Given the description of an element on the screen output the (x, y) to click on. 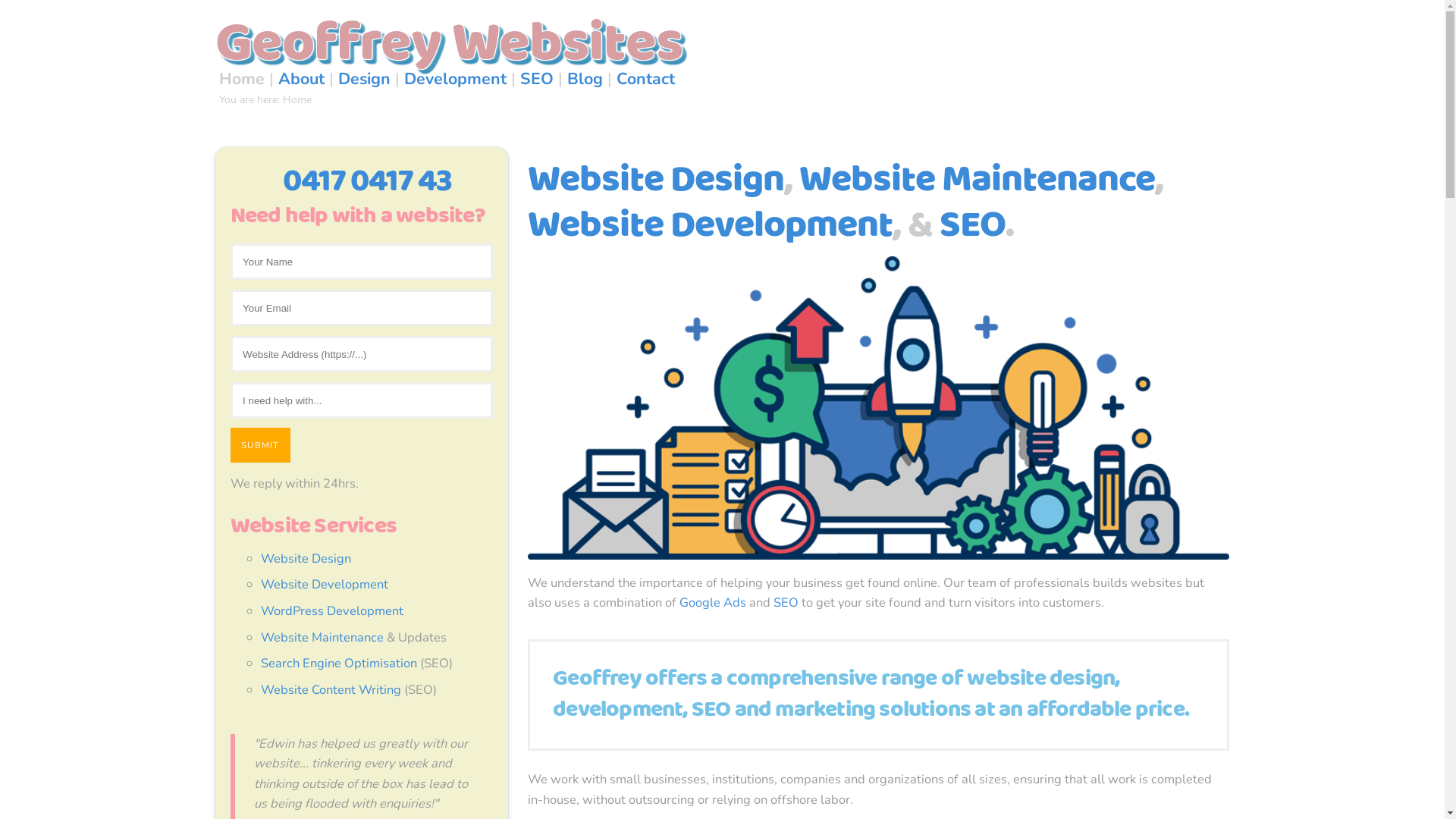
Contact Element type: text (645, 78)
Development Element type: text (455, 78)
0417 0417 43 Element type: text (366, 181)
Design Element type: text (364, 78)
Submit Element type: text (260, 444)
SEO Element type: text (785, 602)
WordPress Development Element type: text (331, 610)
SEO Element type: text (536, 78)
Website Design Element type: text (305, 558)
Google Ads Element type: text (712, 602)
Website Development Element type: text (709, 225)
About Element type: text (301, 78)
Website Maintenance Element type: text (321, 637)
Website Development Element type: text (324, 584)
Website Content Writing Element type: text (330, 689)
Blog Element type: text (584, 78)
Search Engine Optimisation Element type: text (338, 662)
SEO Element type: text (972, 225)
Website Design Element type: text (655, 180)
Website Maintenance Element type: text (976, 180)
